Given the description of an element on the screen output the (x, y) to click on. 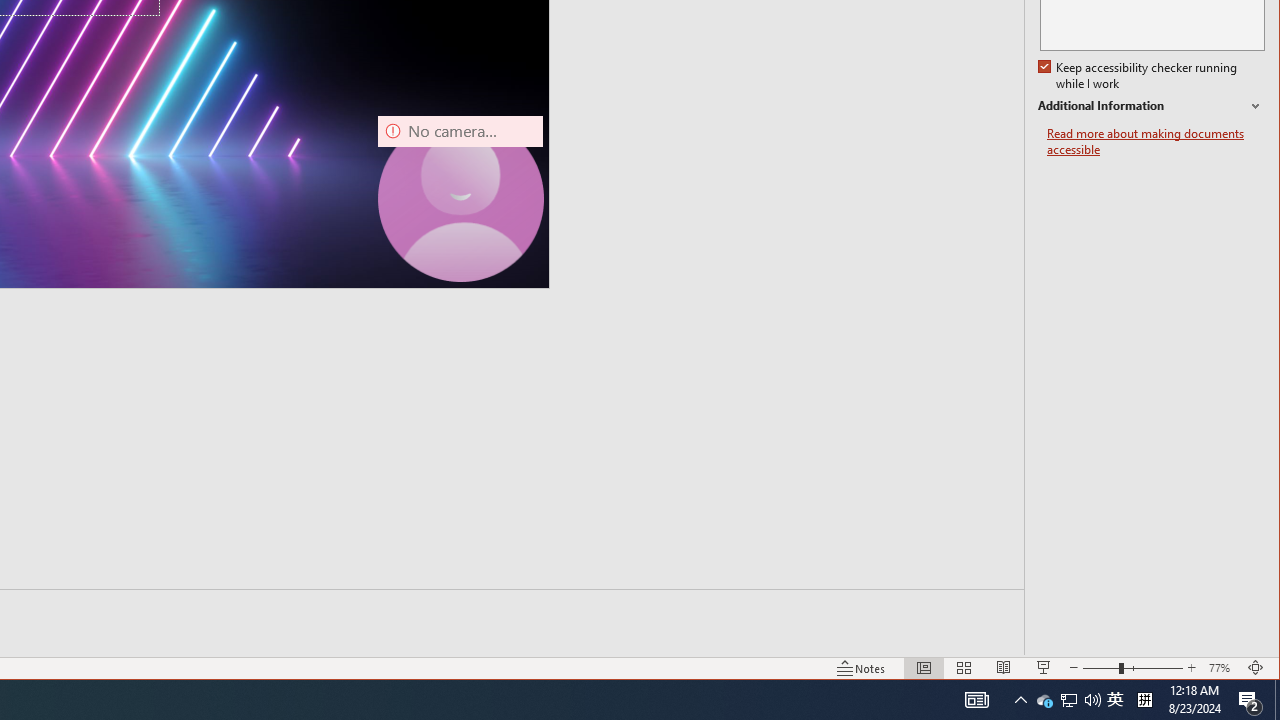
Camera 7, No camera detected. (460, 197)
